Given the description of an element on the screen output the (x, y) to click on. 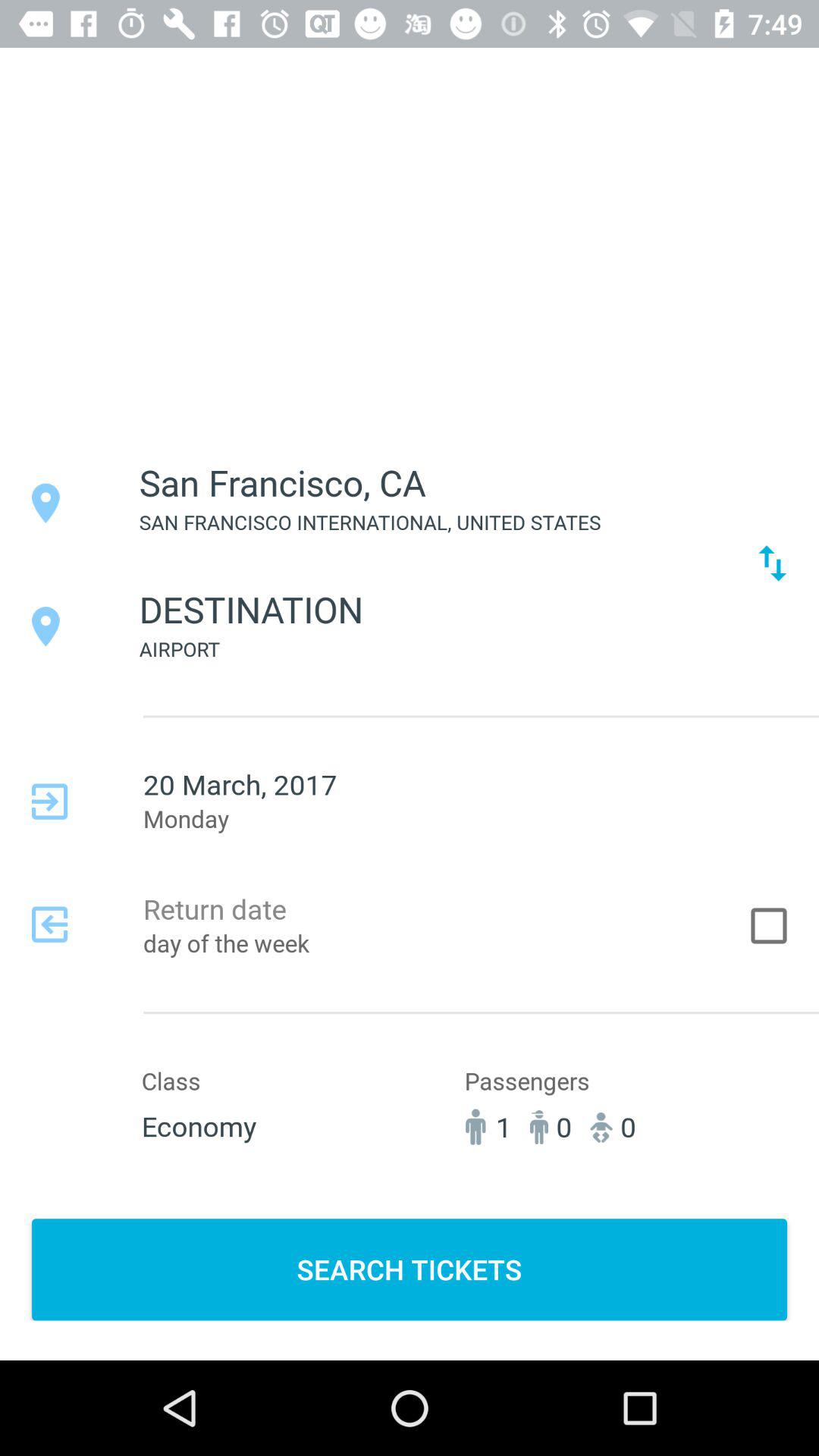
press the item to the right of the san francisco international icon (772, 563)
